Given the description of an element on the screen output the (x, y) to click on. 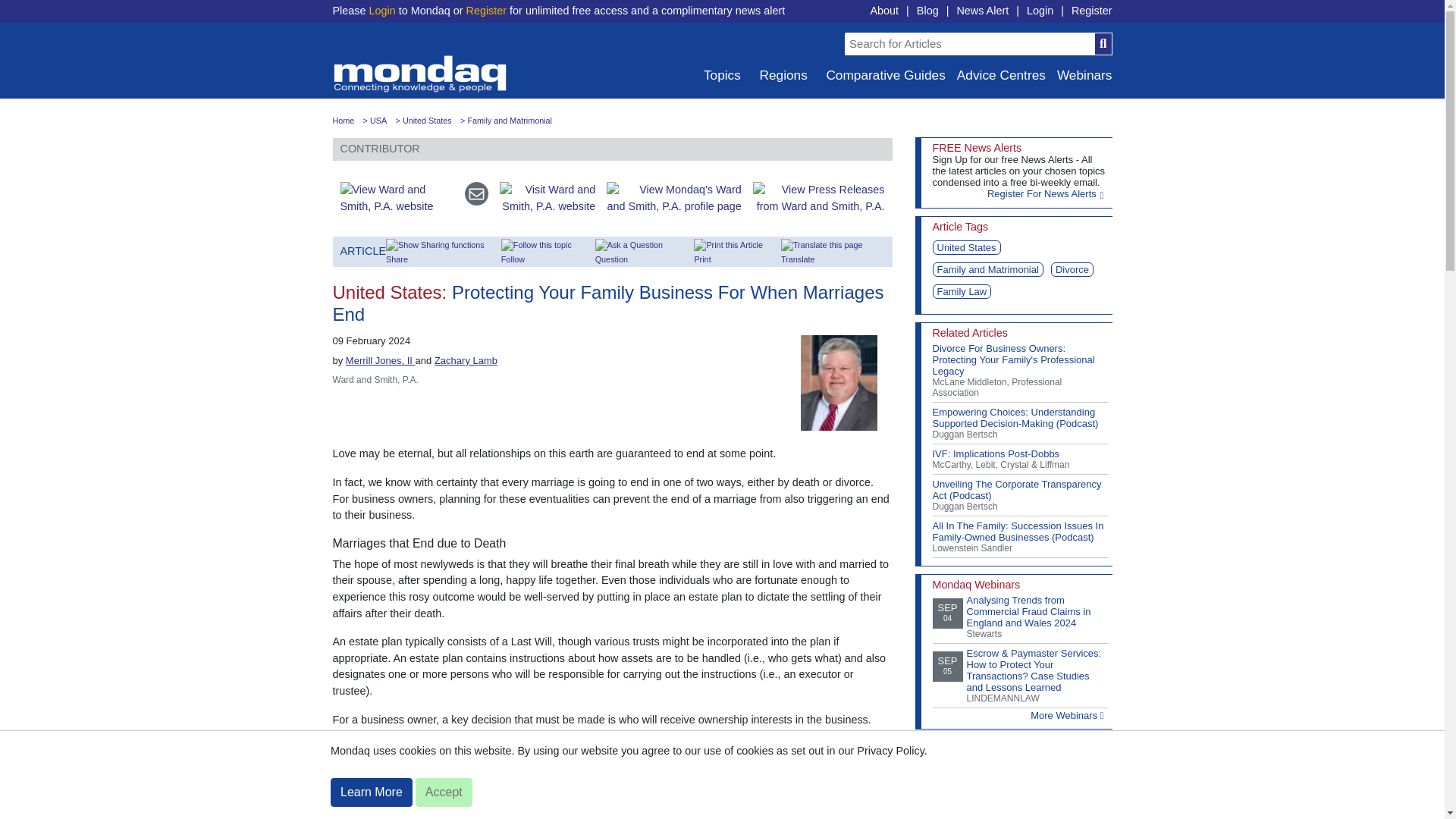
Register (485, 10)
Click to visit to Ward and Smith, P.A. Website (392, 197)
Blog (928, 10)
View this authors biography on their website (465, 360)
Email Ward and Smith, P.A. (469, 197)
Login (1039, 10)
View this authors biography on their website (380, 360)
Visit Ward and Smith, P.A.  website (541, 197)
News about Ward and Smith, P.A. (813, 197)
News Alert (982, 10)
About (883, 10)
Filter only by Family and Matrimonial (509, 120)
View this authors biography on their website (846, 380)
More from Ward and Smith, P.A. (668, 197)
Topics   (720, 75)
